Given the description of an element on the screen output the (x, y) to click on. 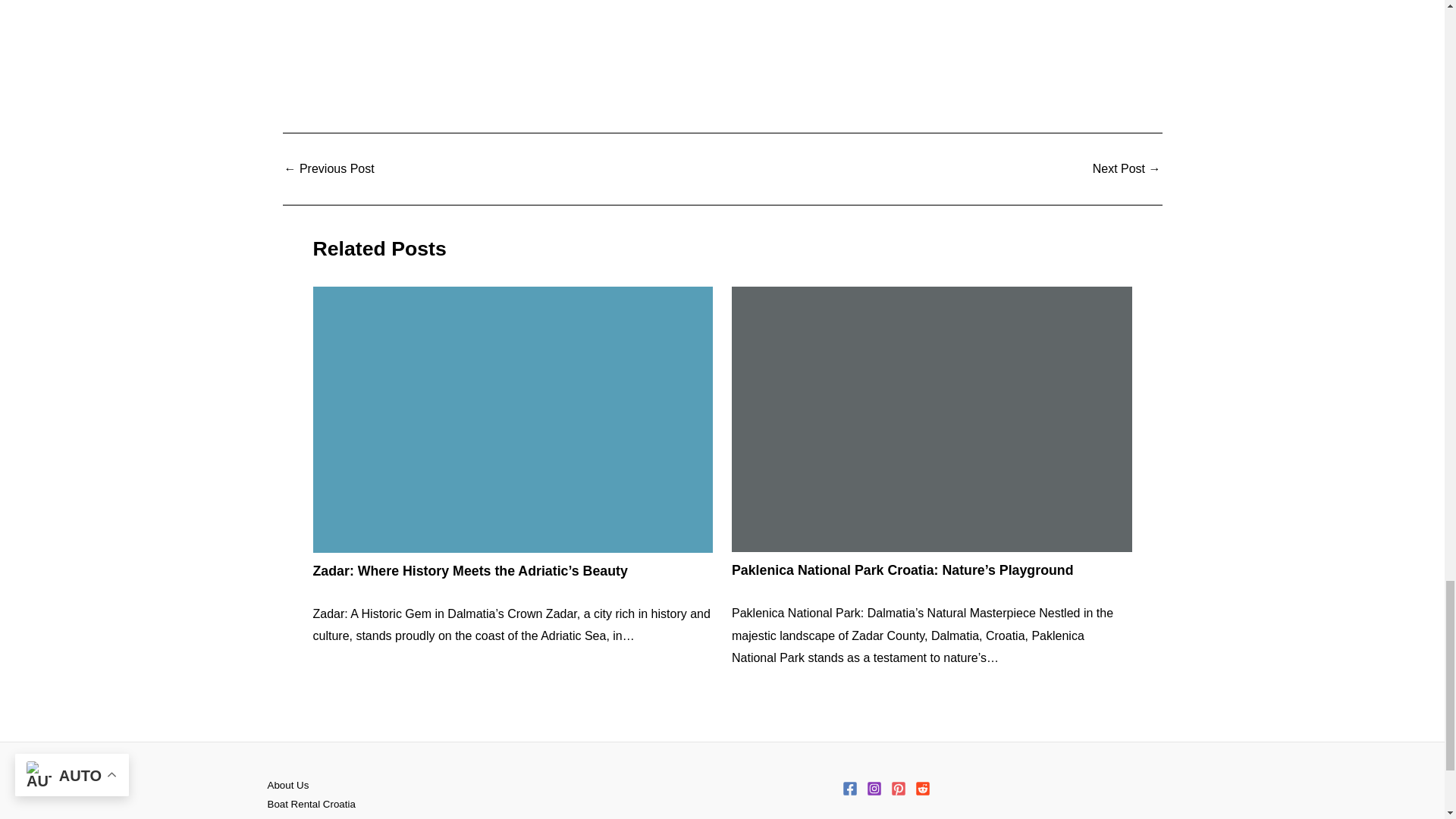
Boat Rental Croatia (310, 804)
Advertising (291, 816)
About Us (287, 785)
Discover Biograd na Moru: Dalmatia's Coastal Jewel (1126, 168)
Explore Pirovac: A Serene Getaway in Dalmatia (328, 168)
